Given the description of an element on the screen output the (x, y) to click on. 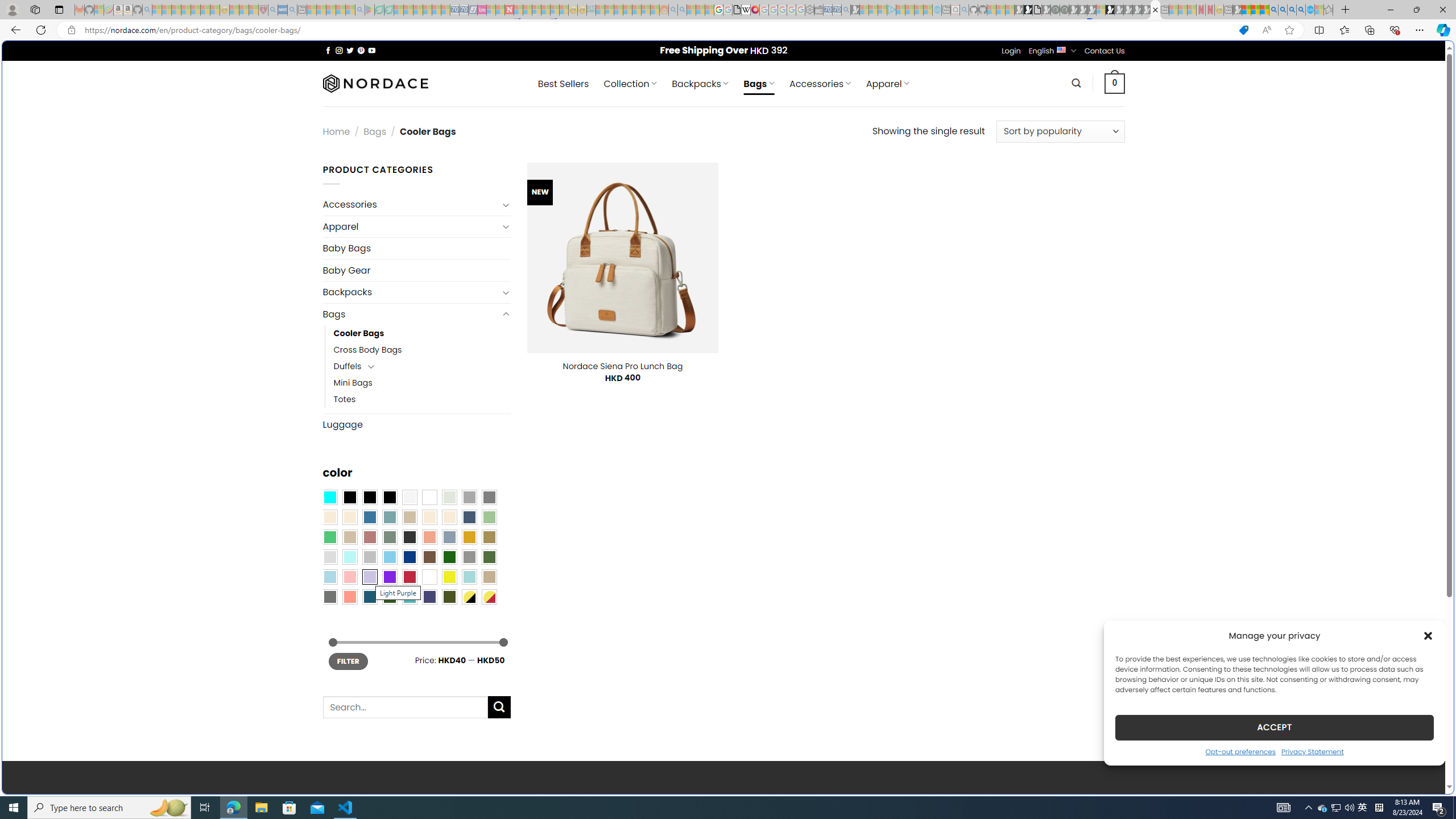
Microsoft Start - Sleeping (919, 9)
Latest Politics News & Archive | Newsweek.com - Sleeping (508, 9)
Bing AI - Search (1272, 9)
Follow on Twitter (349, 49)
Microsoft-Report a Concern to Bing - Sleeping (98, 9)
Contact Us (1104, 50)
Black-Brown (389, 497)
